Given the description of an element on the screen output the (x, y) to click on. 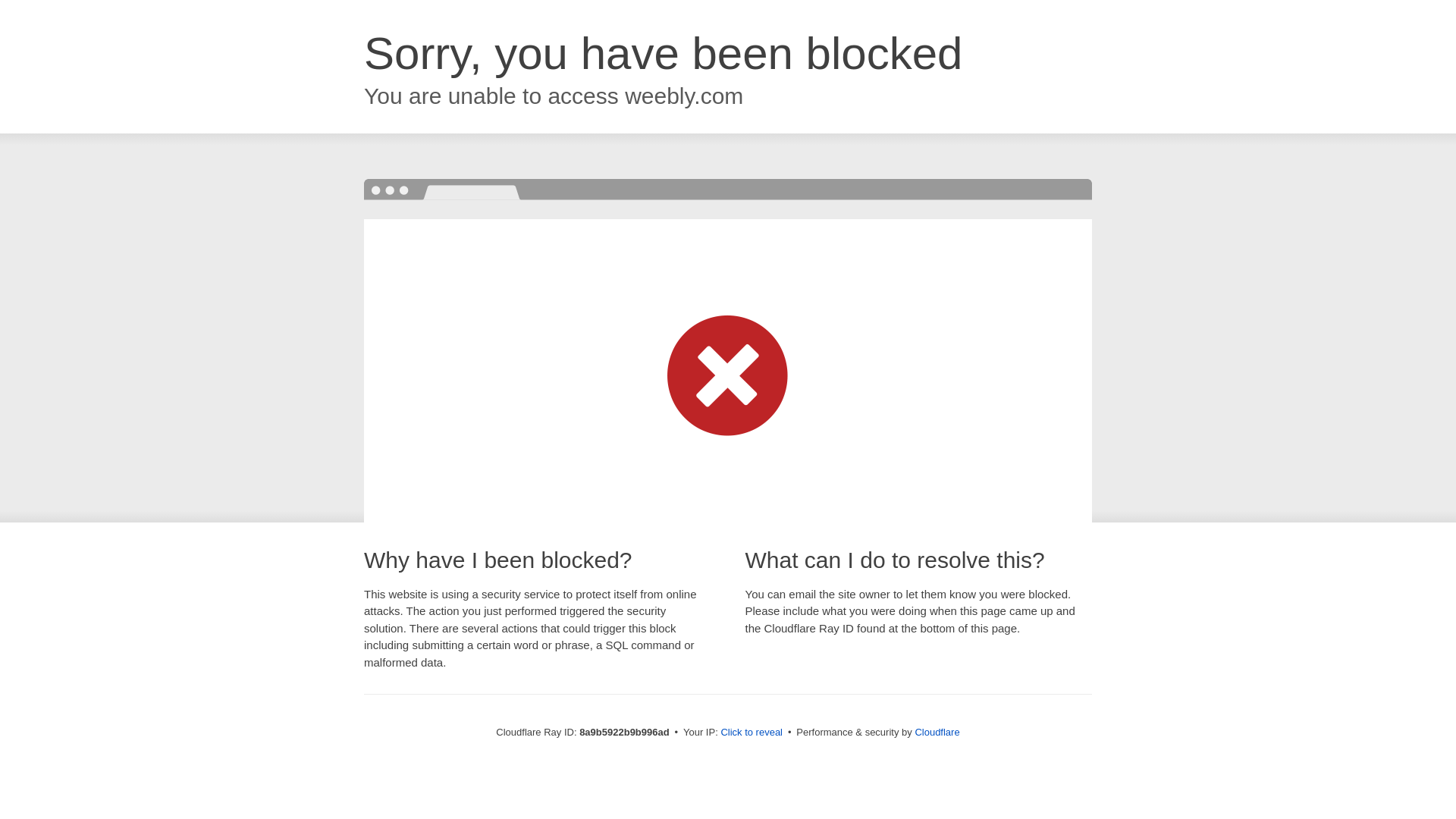
Cloudflare (936, 731)
Click to reveal (751, 732)
